Given the description of an element on the screen output the (x, y) to click on. 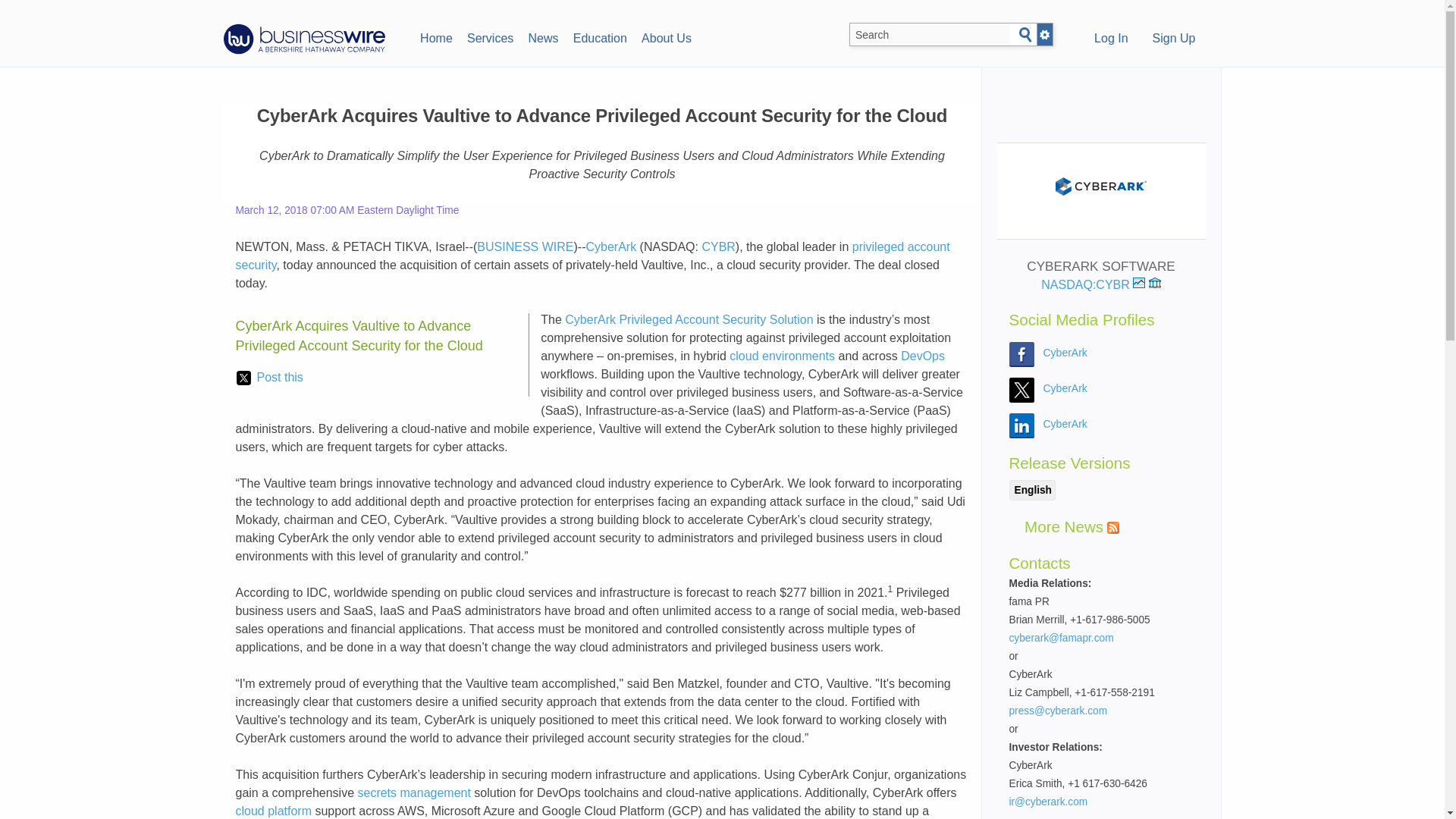
CyberArk (1065, 387)
NASDAQ:CYBR (1092, 284)
Home (436, 36)
BUSINESS WIRE (525, 246)
DevOps (922, 355)
View SEC Filings (1154, 282)
cloud environments (781, 355)
CYBR (718, 246)
Post this (269, 377)
CyberArk (1065, 423)
CyberArk (610, 246)
privileged account security (591, 255)
View stock quote and chart (1138, 282)
RSS feed for CyberArk (1112, 527)
cloud platform (272, 810)
